Given the description of an element on the screen output the (x, y) to click on. 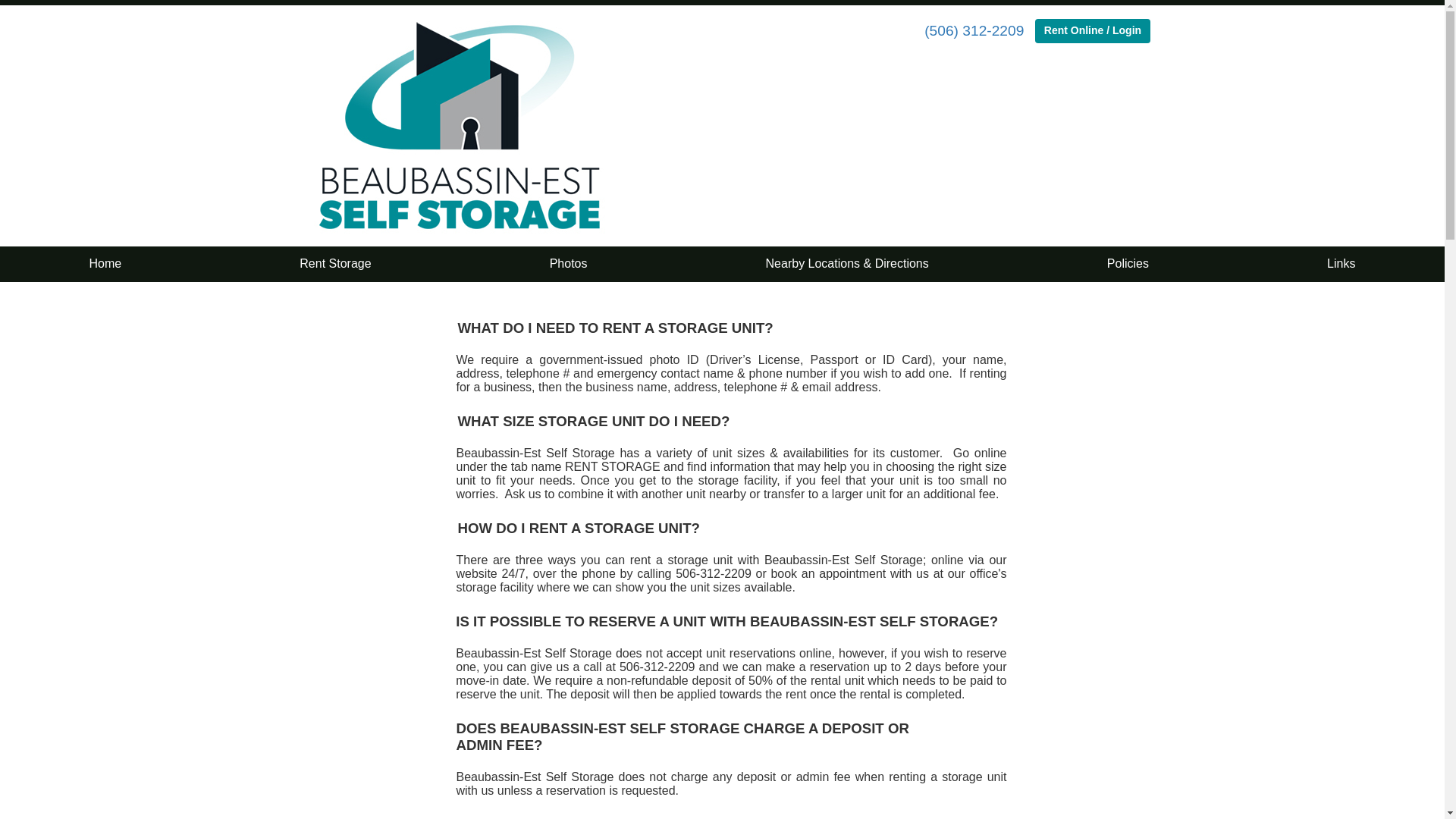
Policies Element type: text (1127, 264)
Rent Storage Element type: text (334, 264)
(506) 312-2209 Element type: text (973, 30)
Nearby Locations & Directions Element type: text (847, 264)
Links Element type: text (1340, 264)
Rent Online / Login Element type: text (1092, 30)
Home Element type: text (105, 264)
Photos Element type: text (568, 264)
